Given the description of an element on the screen output the (x, y) to click on. 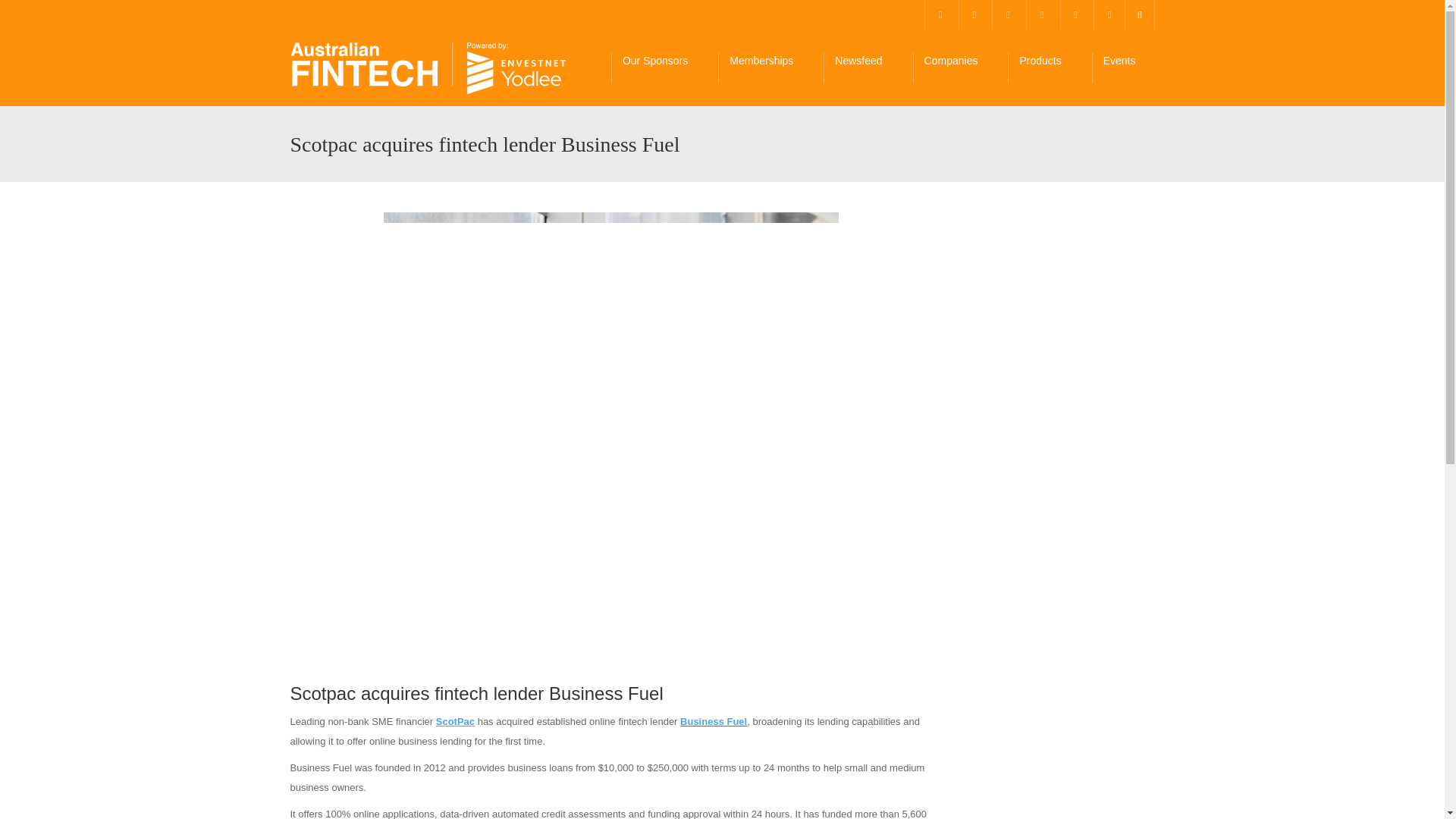
Products (1048, 68)
Memberships (770, 68)
ScotPac (454, 721)
Newsfeed (868, 68)
Companies (960, 68)
Business Fuel (712, 721)
Events (1129, 68)
Our Sponsors (664, 68)
